Given the description of an element on the screen output the (x, y) to click on. 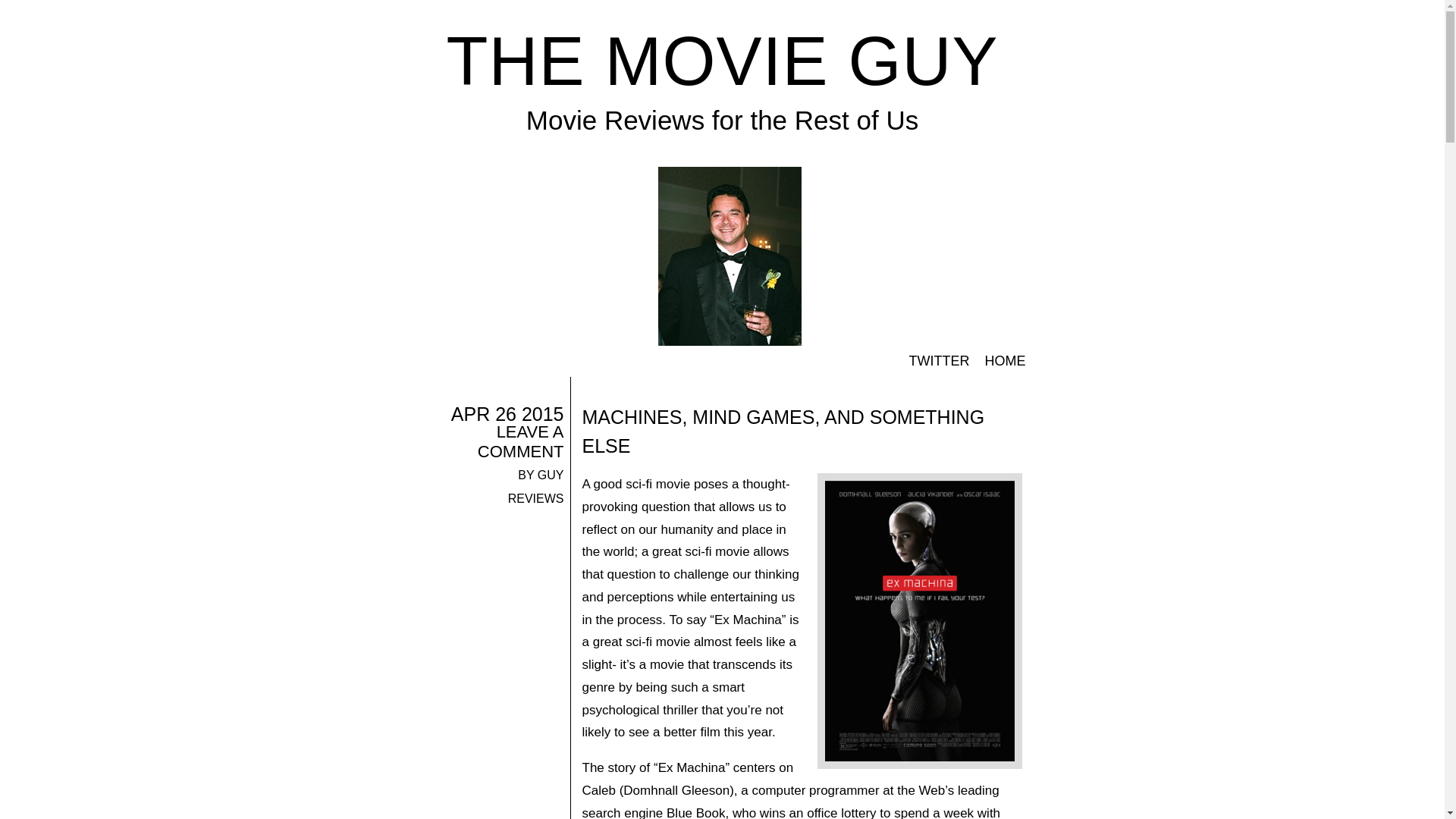
APR 26 2015 (507, 414)
REVIEWS (536, 498)
The Movie Guy (721, 61)
LEAVE A COMMENT (520, 441)
HOME (1004, 360)
TWITTER (938, 360)
BY GUY (540, 474)
THE MOVIE GUY (721, 61)
